Given the description of an element on the screen output the (x, y) to click on. 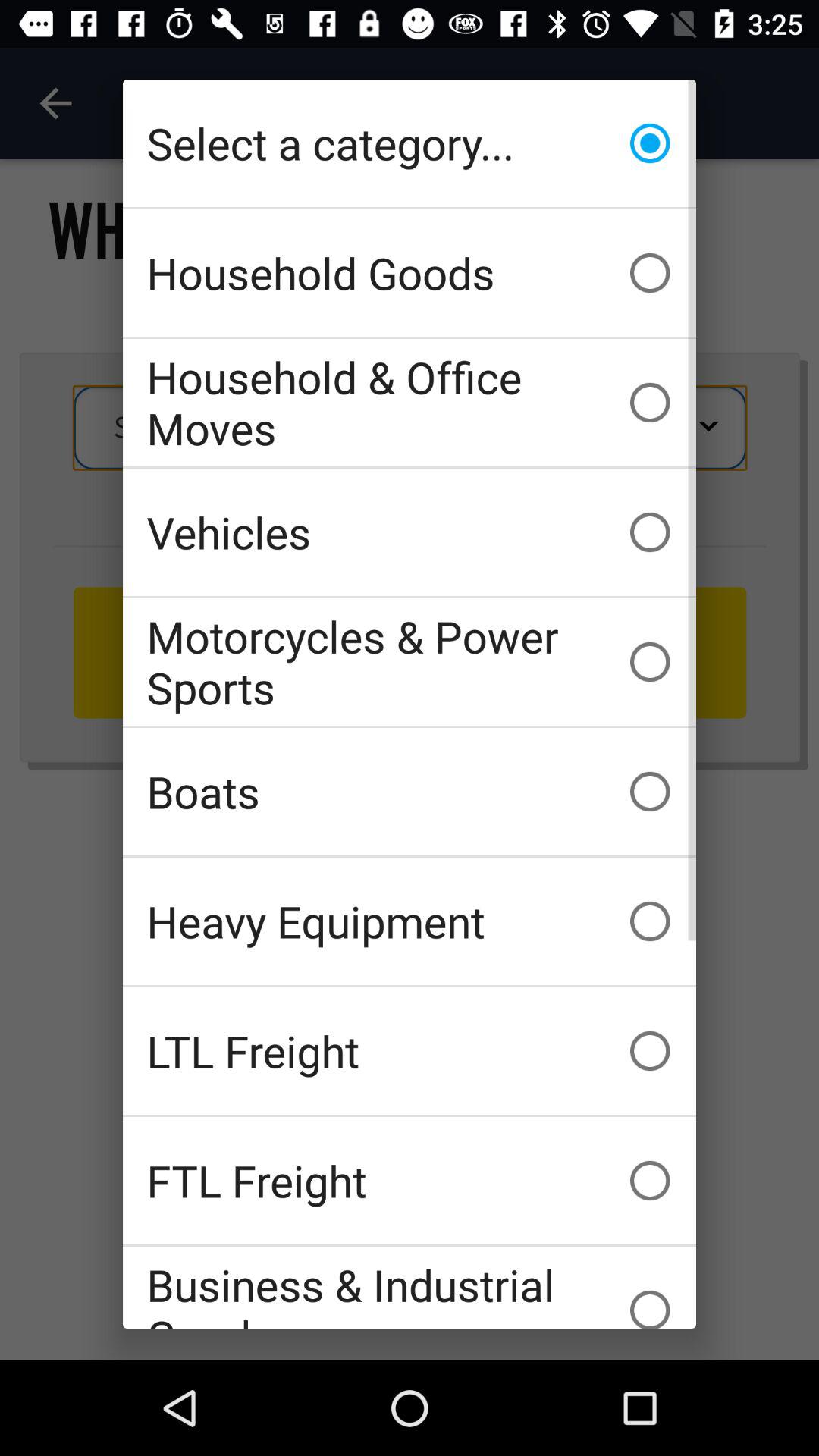
tap the item above boats (409, 661)
